Given the description of an element on the screen output the (x, y) to click on. 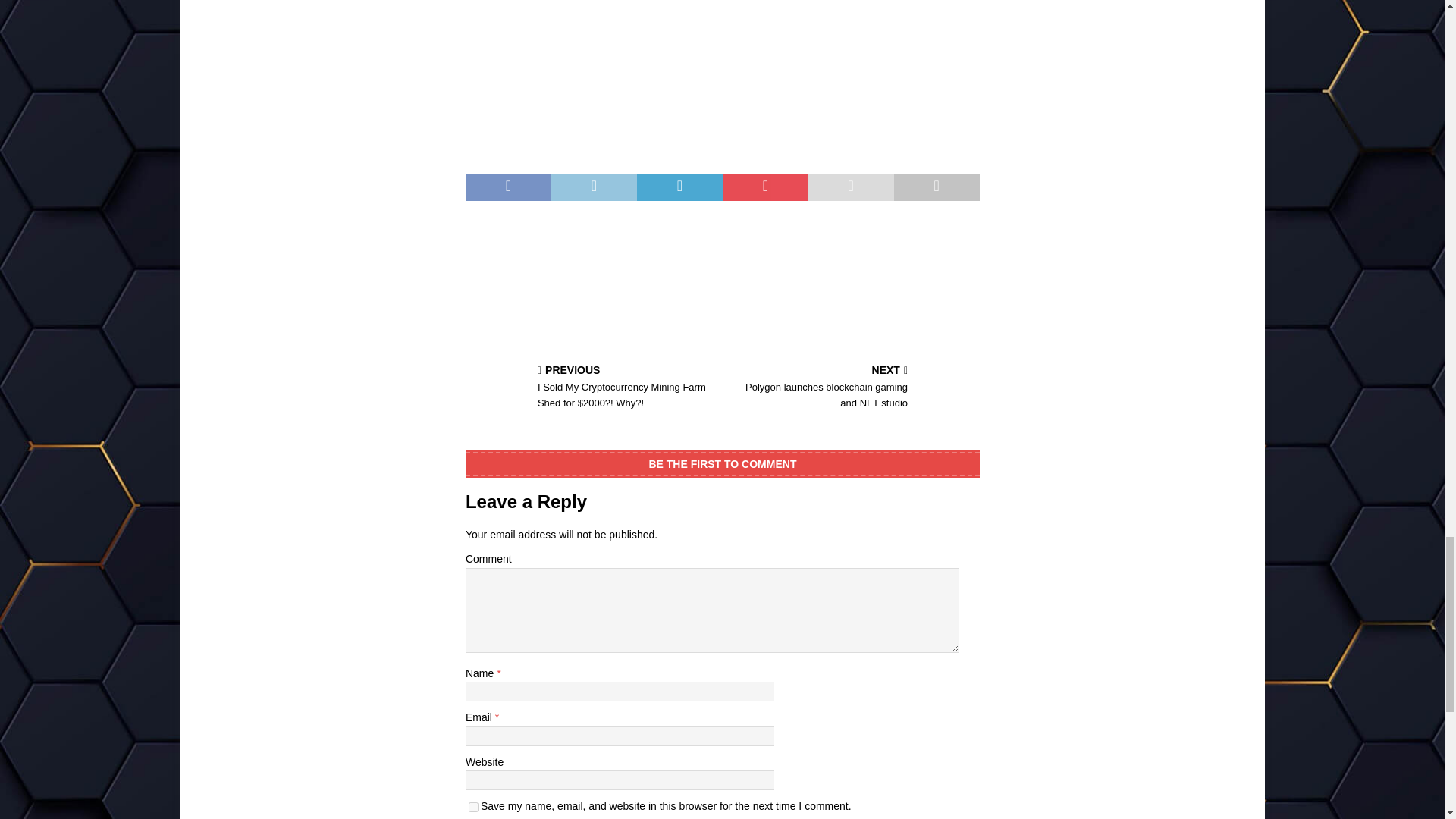
yes (473, 807)
